Given the description of an element on the screen output the (x, y) to click on. 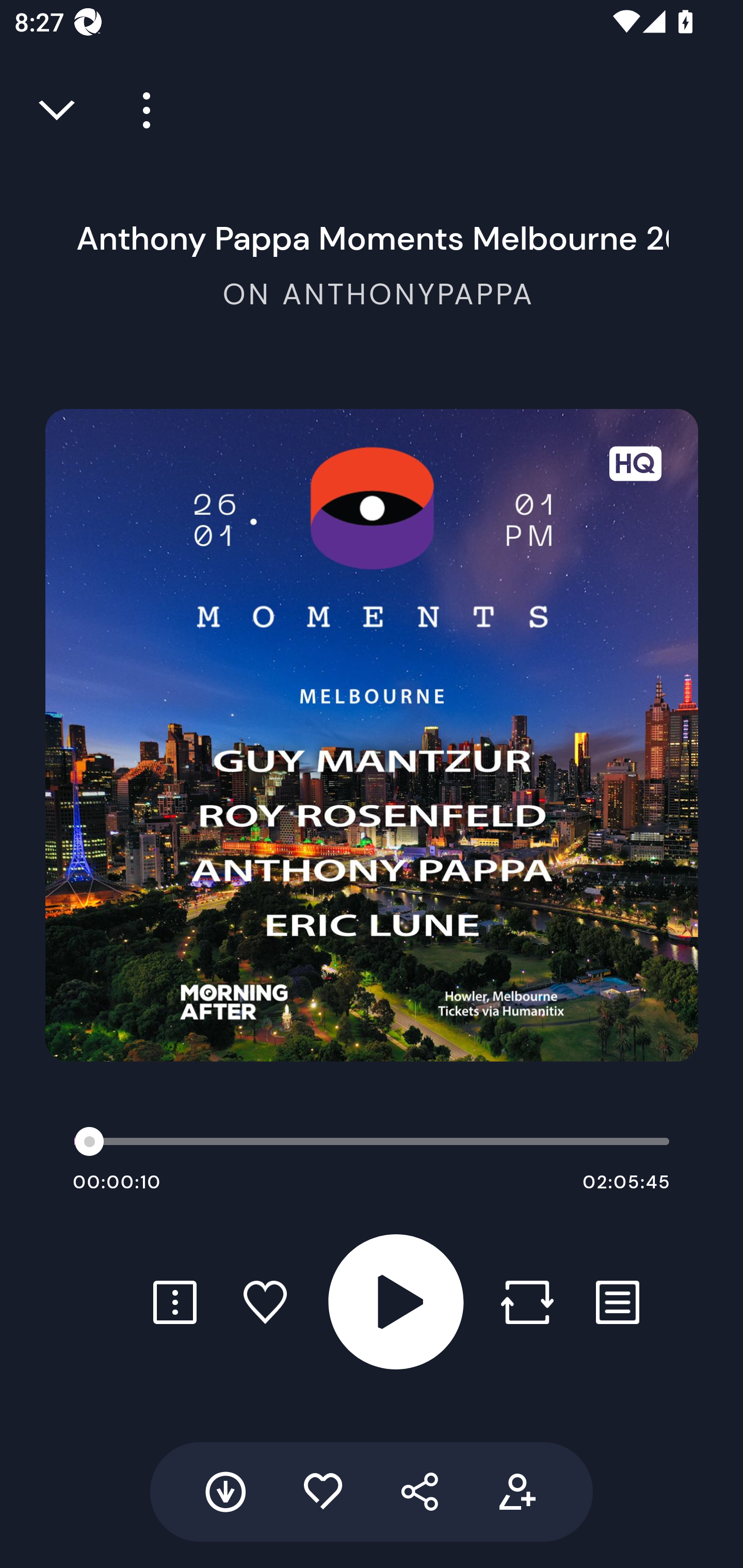
Close full player (58, 110)
Player more options button (139, 110)
Repost button (527, 1301)
